Given the description of an element on the screen output the (x, y) to click on. 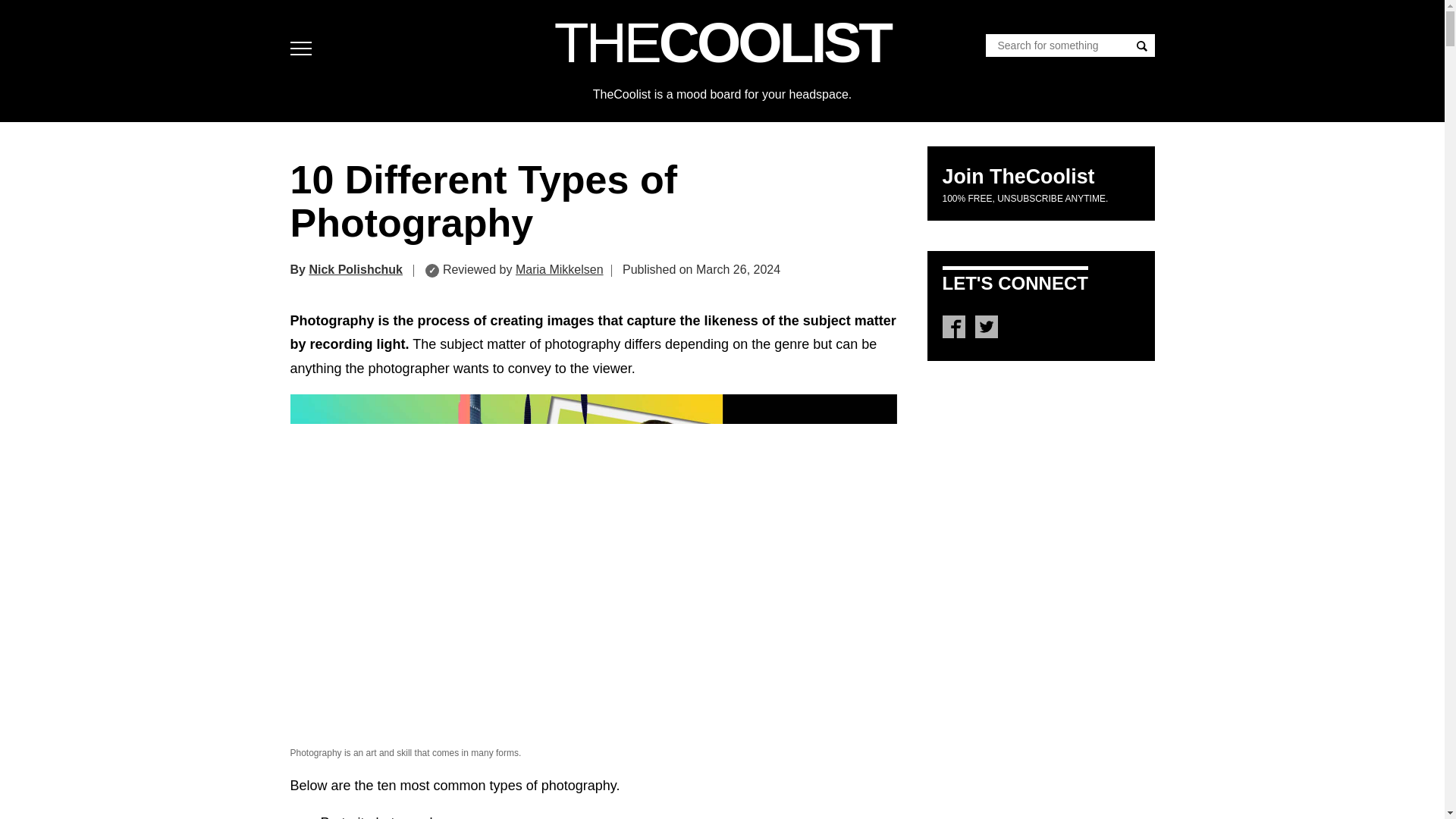
Menu (303, 48)
THECOOLIST (721, 42)
TheCoolist newsletter (1025, 198)
Maria Mikkelsen's articles on TheCoolist (559, 269)
Nick Polishchuk's articles on TheCoolist (355, 269)
TheCoolist Twitter (986, 326)
TheCoolist Facebook (952, 326)
TheCoolist newsletter (1018, 176)
Nick Polishchuk (355, 269)
